Given the description of an element on the screen output the (x, y) to click on. 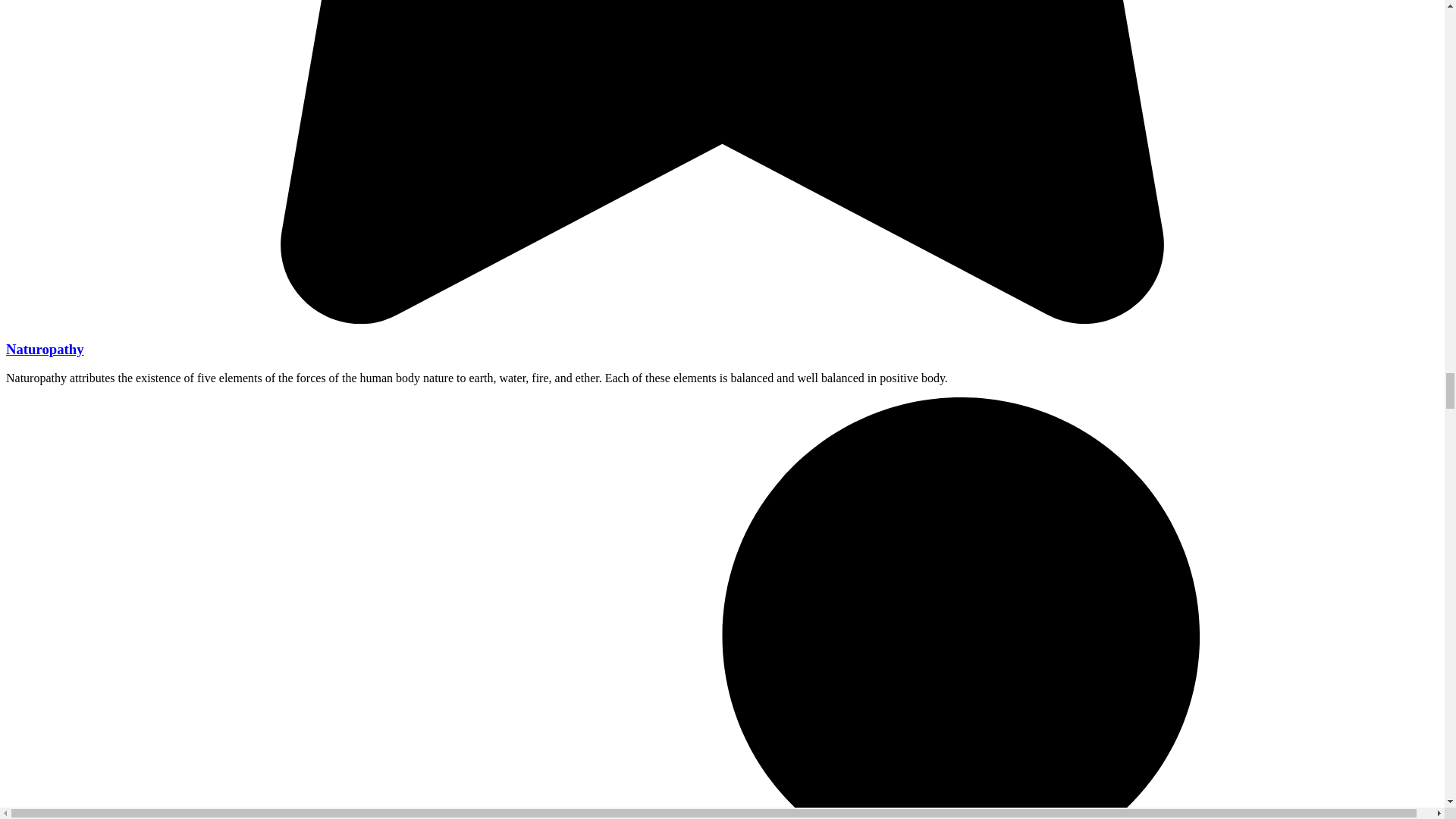
Naturopathy (44, 349)
